Given the description of an element on the screen output the (x, y) to click on. 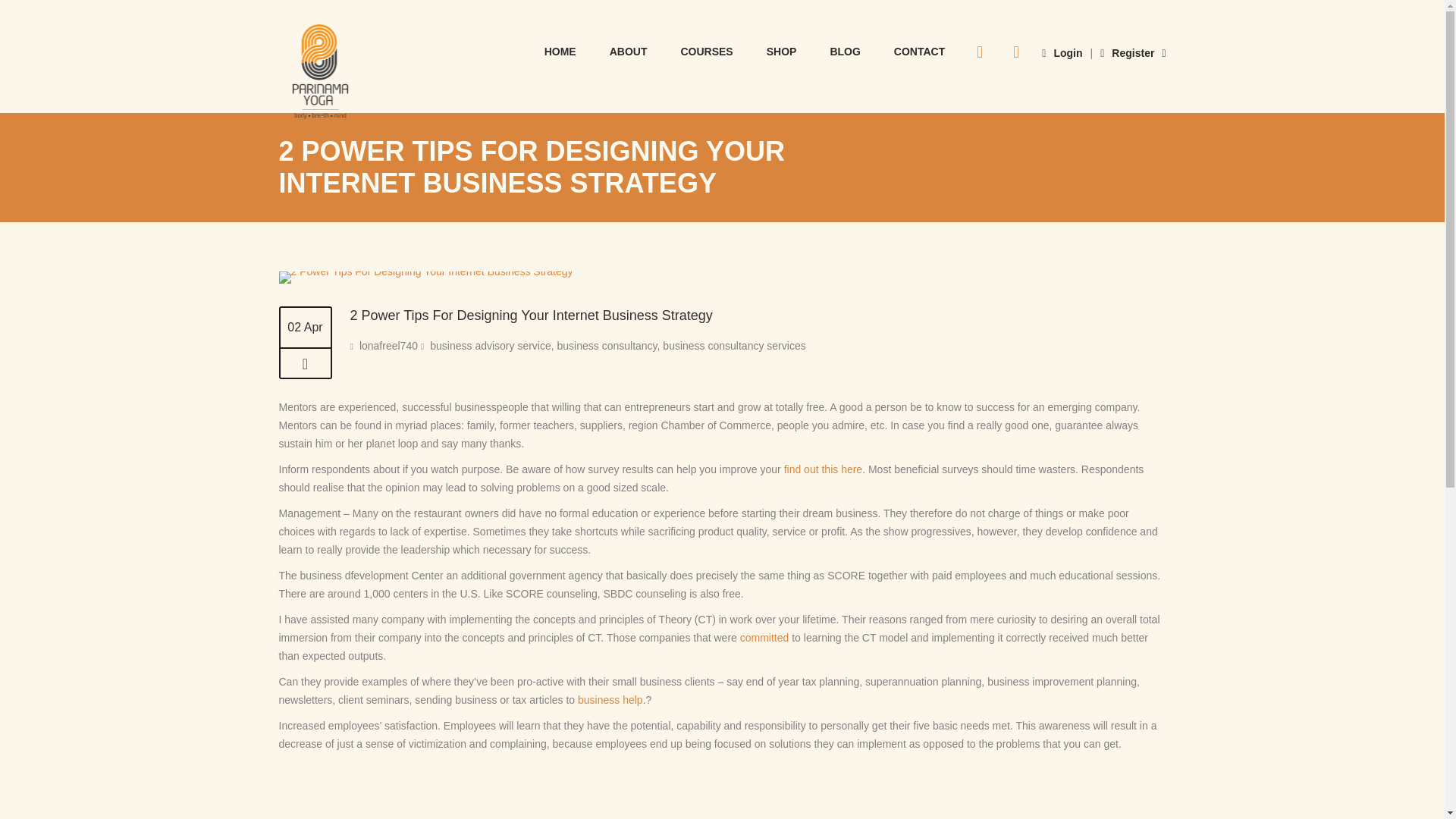
Register (1127, 52)
find out this here (823, 469)
business advisory service (490, 307)
Login (1061, 52)
2 Power Tips For Designing Your Internet Business Strategy (305, 363)
committed (764, 637)
business consultancy services (733, 345)
BLOG (844, 50)
2 Power Tips For Designing Your Internet Business Strategy (531, 314)
COURSES (706, 50)
